Given the description of an element on the screen output the (x, y) to click on. 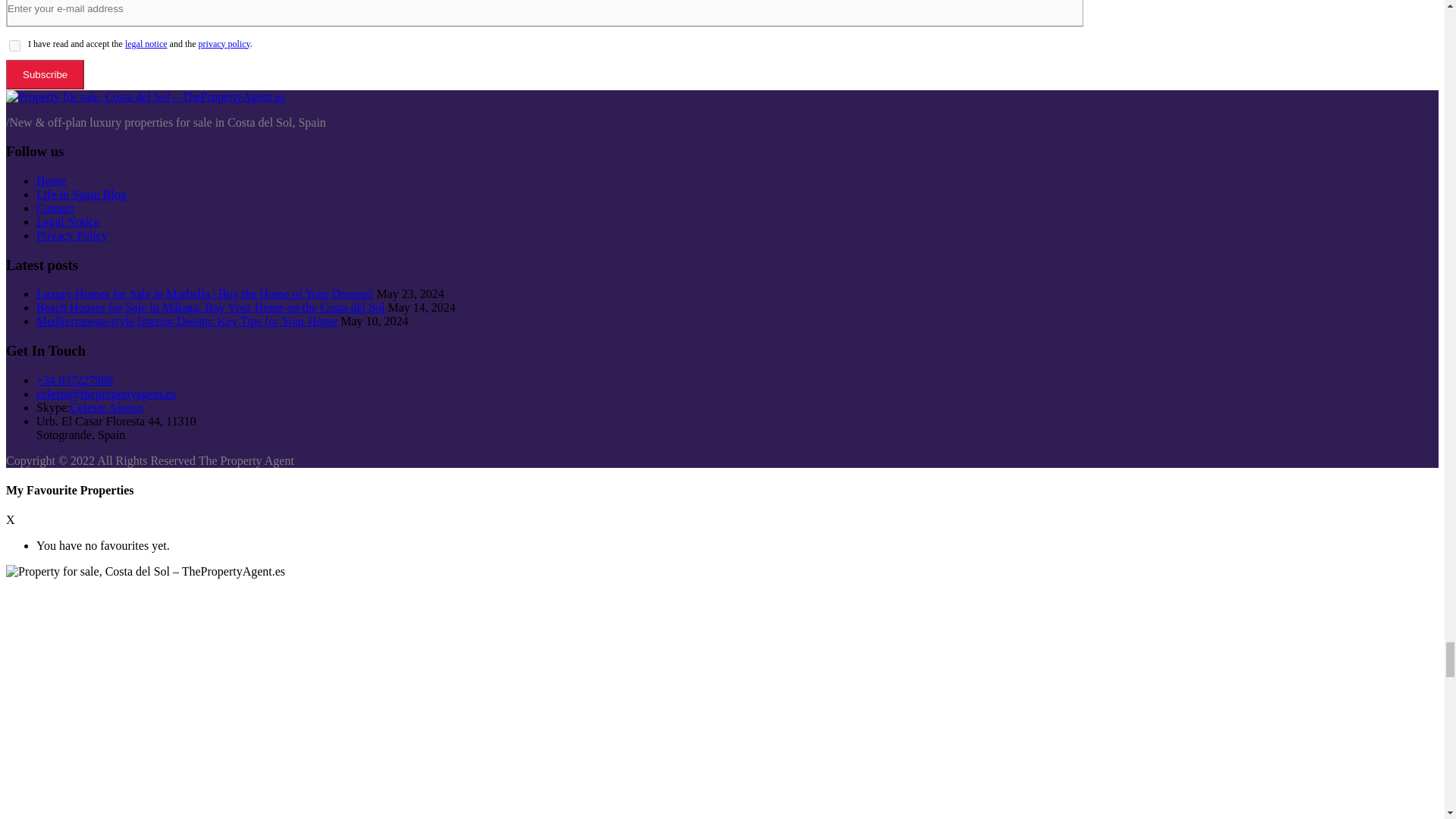
on (14, 45)
